Given the description of an element on the screen output the (x, y) to click on. 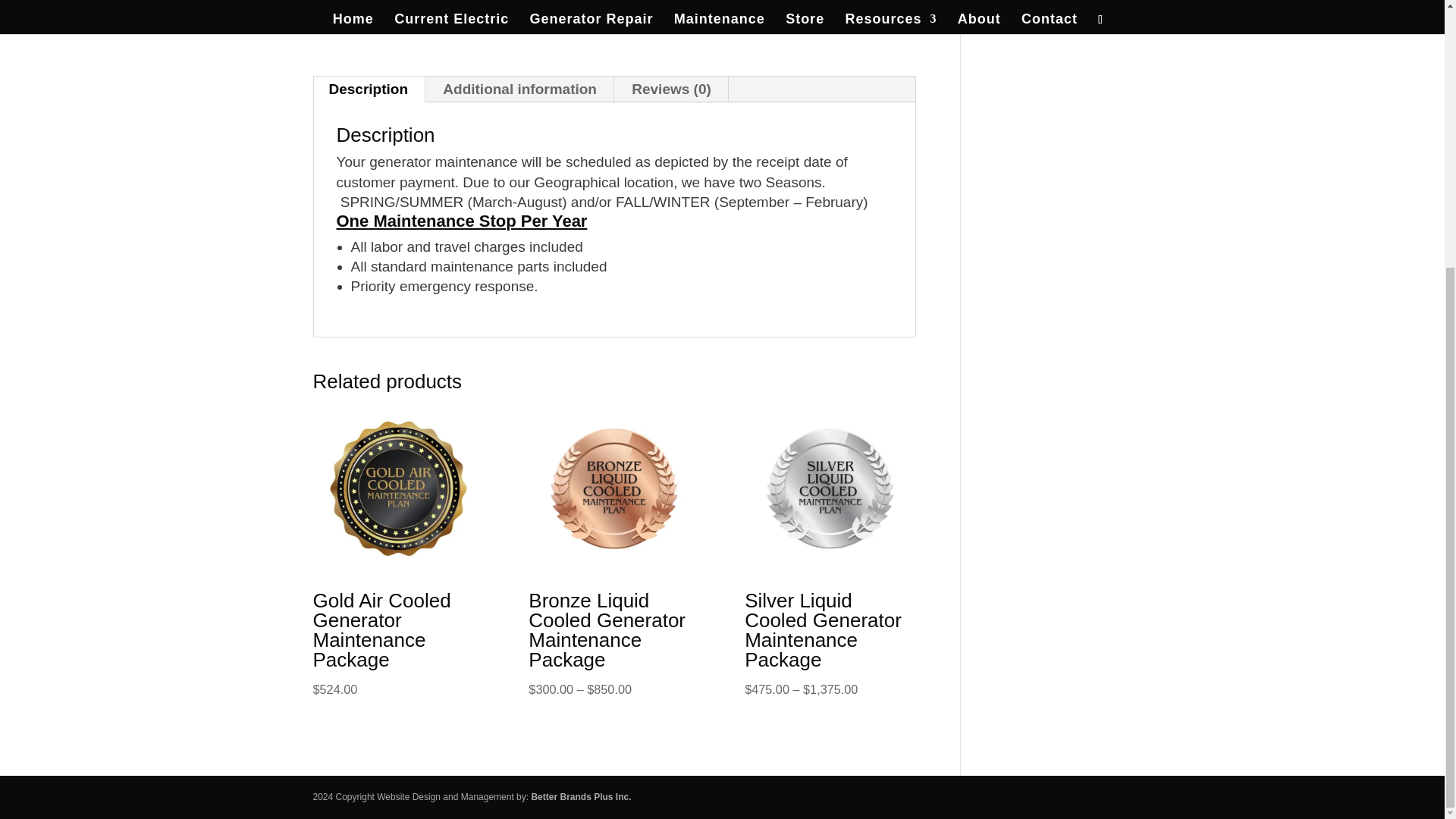
Maintenance Package (679, 14)
Gold-Air-Cooled-4 (457, 5)
Description (369, 89)
Additional information (519, 89)
